Given the description of an element on the screen output the (x, y) to click on. 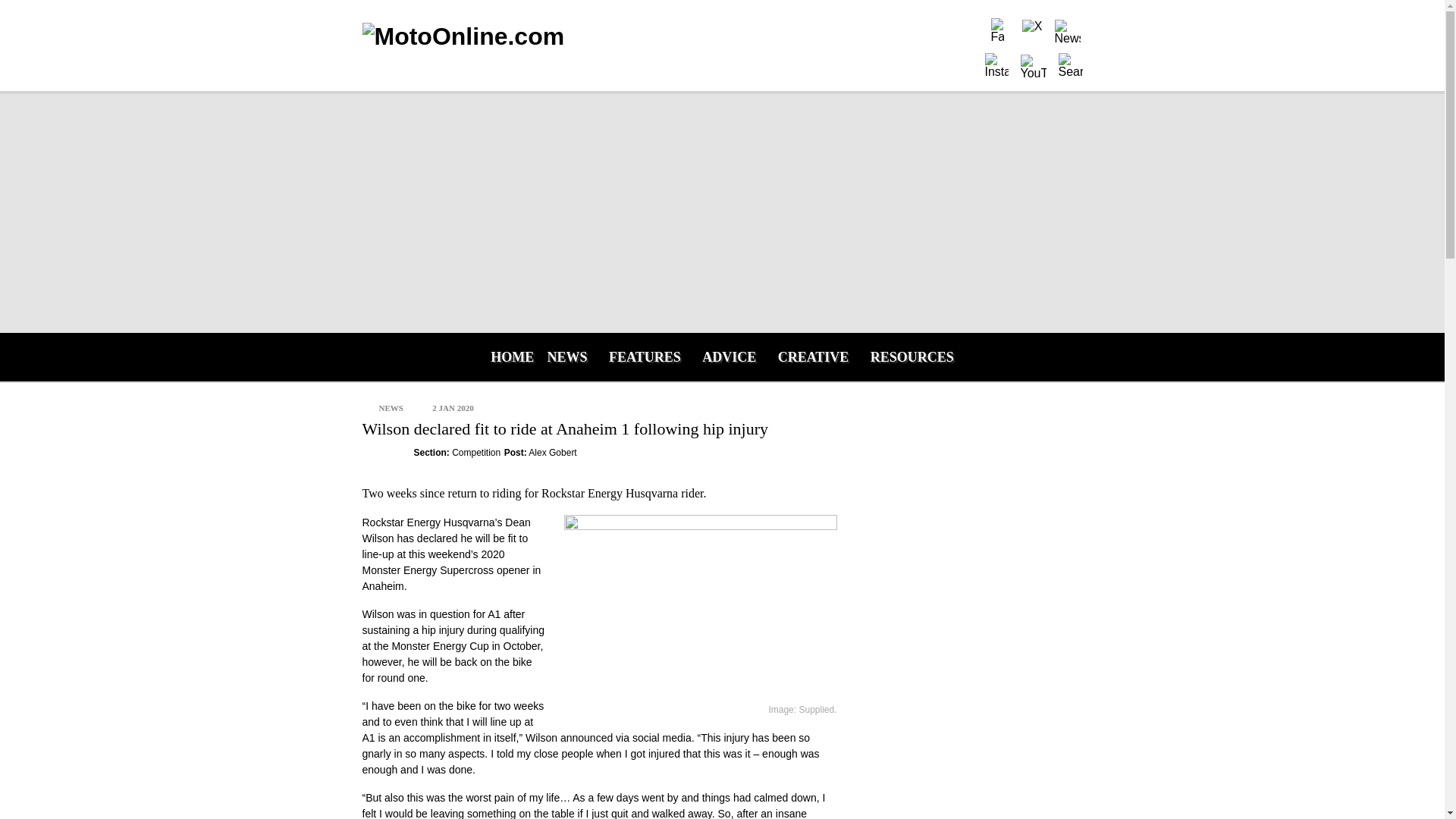
CREATIVE (813, 356)
RESOURCES (911, 356)
NEWS (567, 356)
FEATURES (644, 356)
HOME (507, 356)
Home (475, 36)
ADVICE (729, 356)
